Given the description of an element on the screen output the (x, y) to click on. 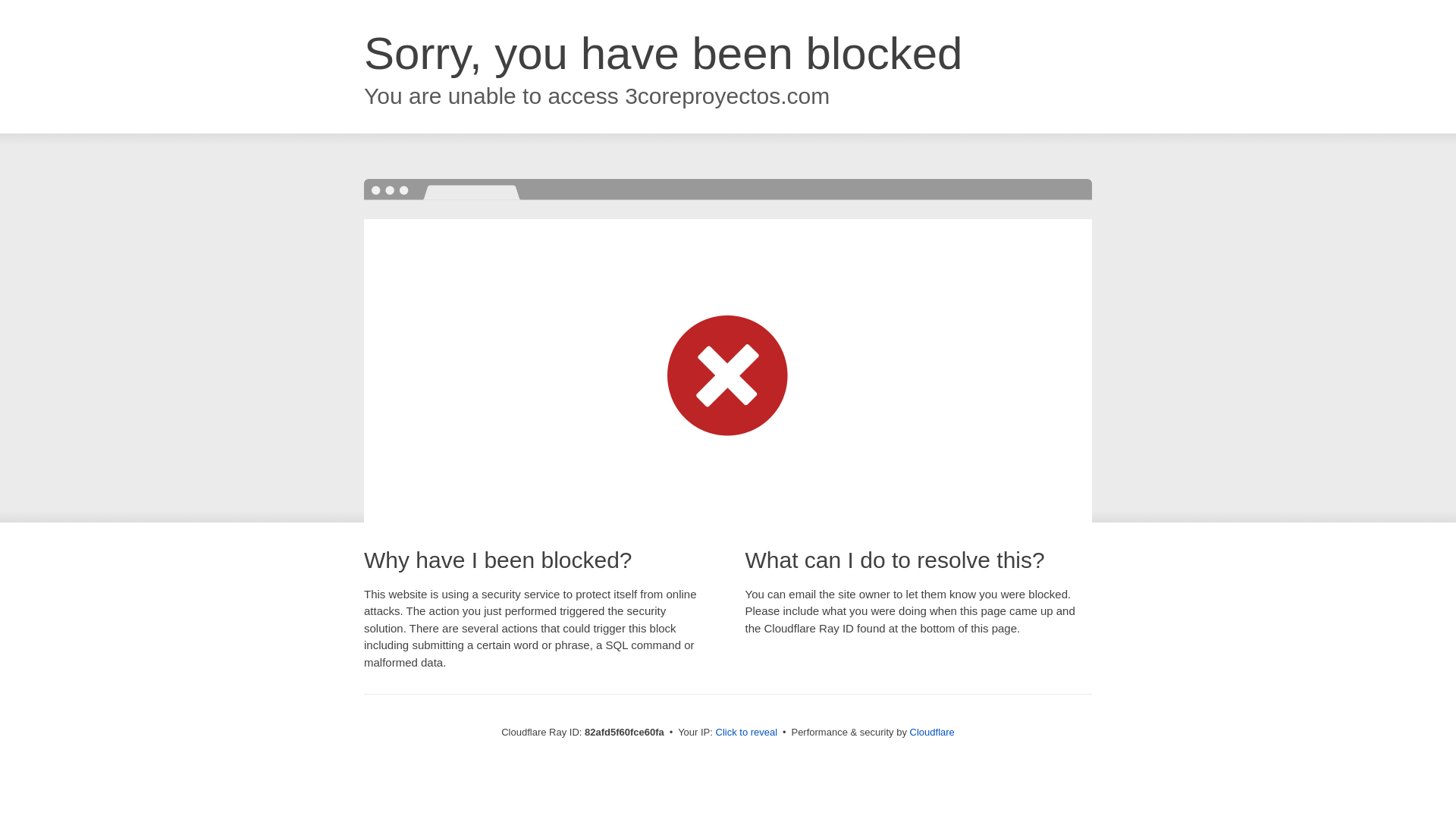
Cloudflare Element type: text (932, 731)
Click to reveal Element type: text (746, 732)
